Given the description of an element on the screen output the (x, y) to click on. 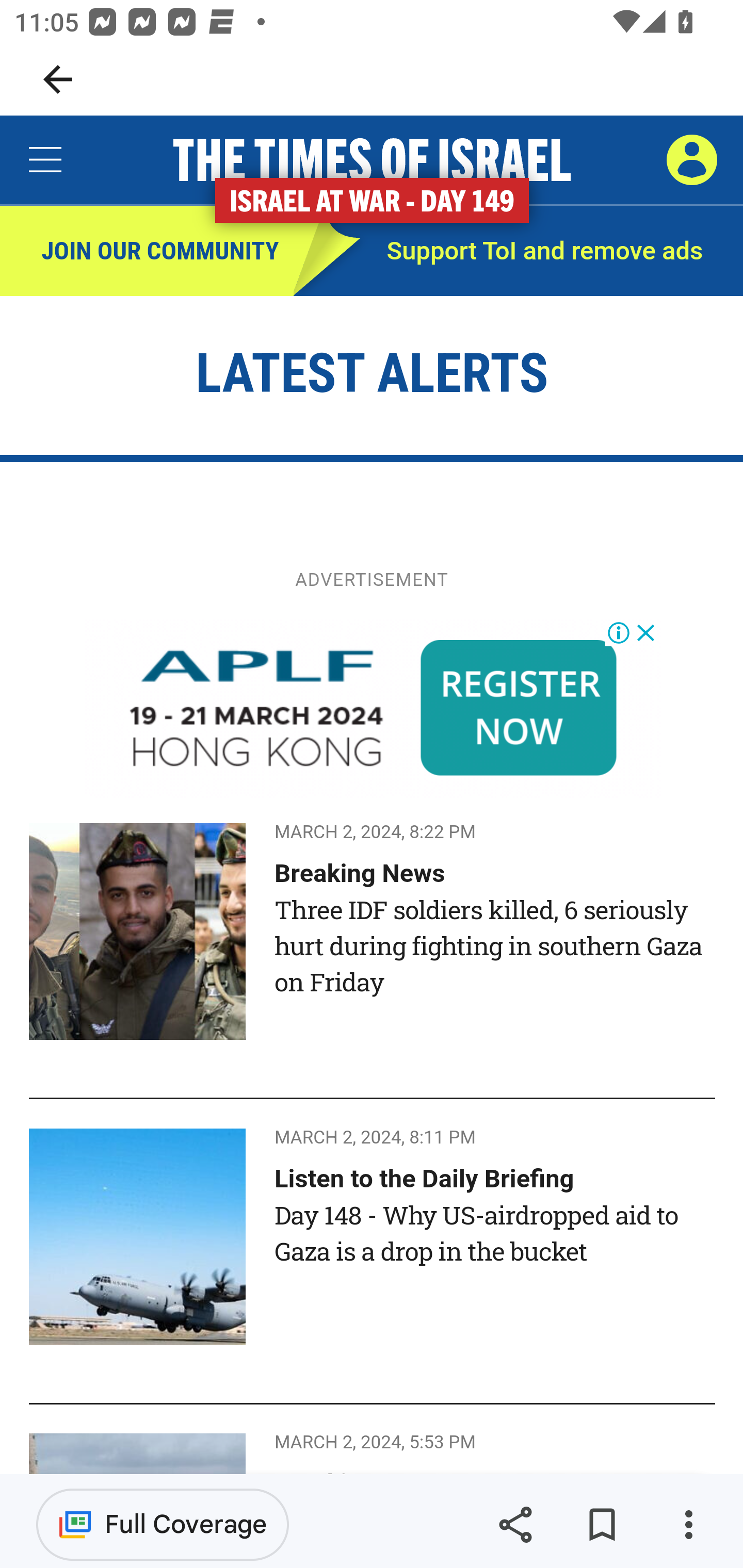
Navigate up (57, 79)
profile (691, 159)
The Times of Israel (371, 159)
JOIN OUR COMMUNITY (147, 251)
Breaking News (359, 873)
Listen to the Daily Briefing (424, 1177)
Share (514, 1524)
Save for later (601, 1524)
More options (688, 1524)
Full Coverage (162, 1524)
